Given the description of an element on the screen output the (x, y) to click on. 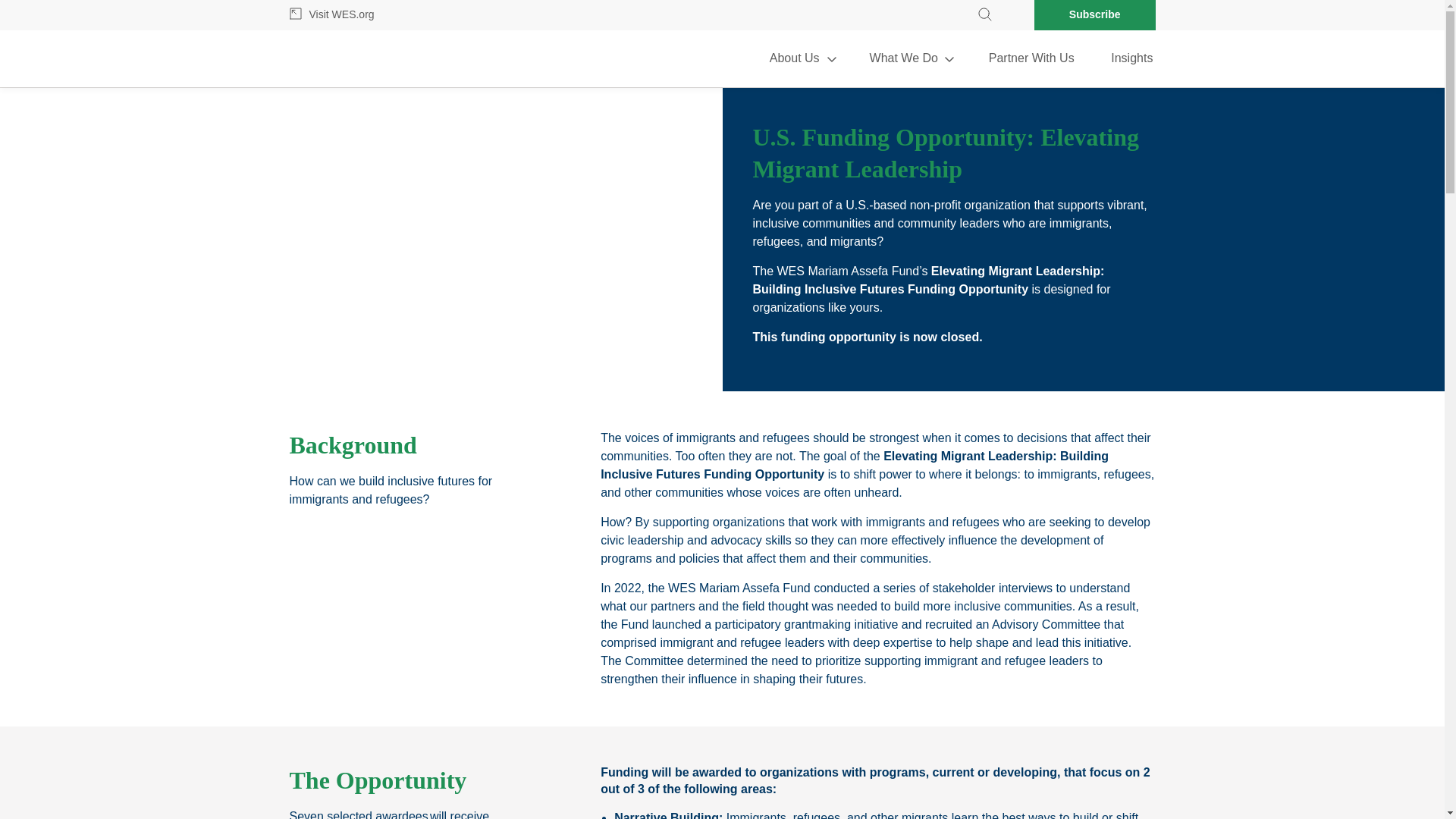
Subscribe (1094, 15)
What We Do (910, 58)
Subscribe (1094, 15)
Visit WES.org (374, 15)
About Us (801, 58)
Insights (1123, 58)
Partner With Us (1031, 58)
